Given the description of an element on the screen output the (x, y) to click on. 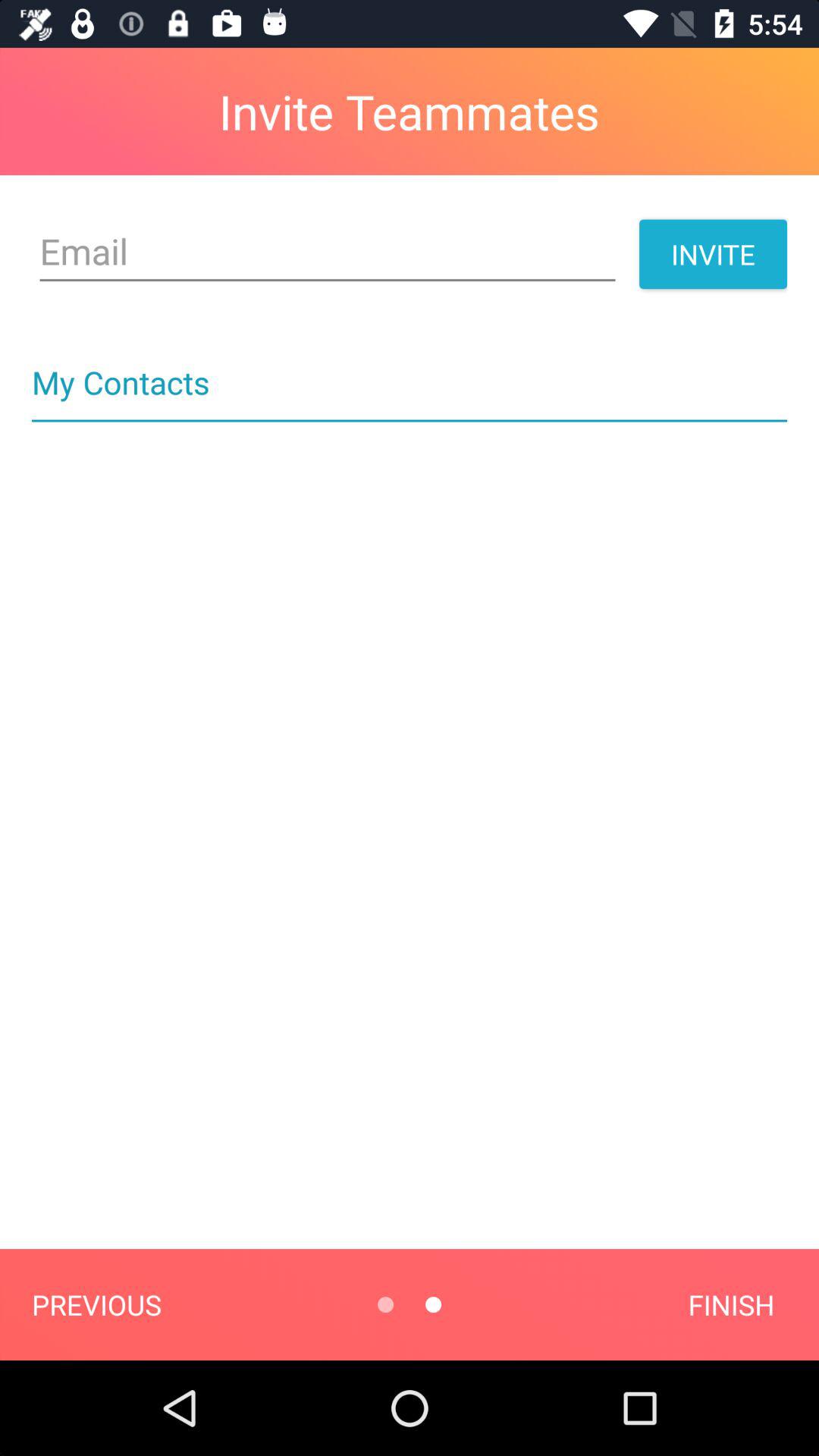
tap item at the bottom right corner (731, 1304)
